Given the description of an element on the screen output the (x, y) to click on. 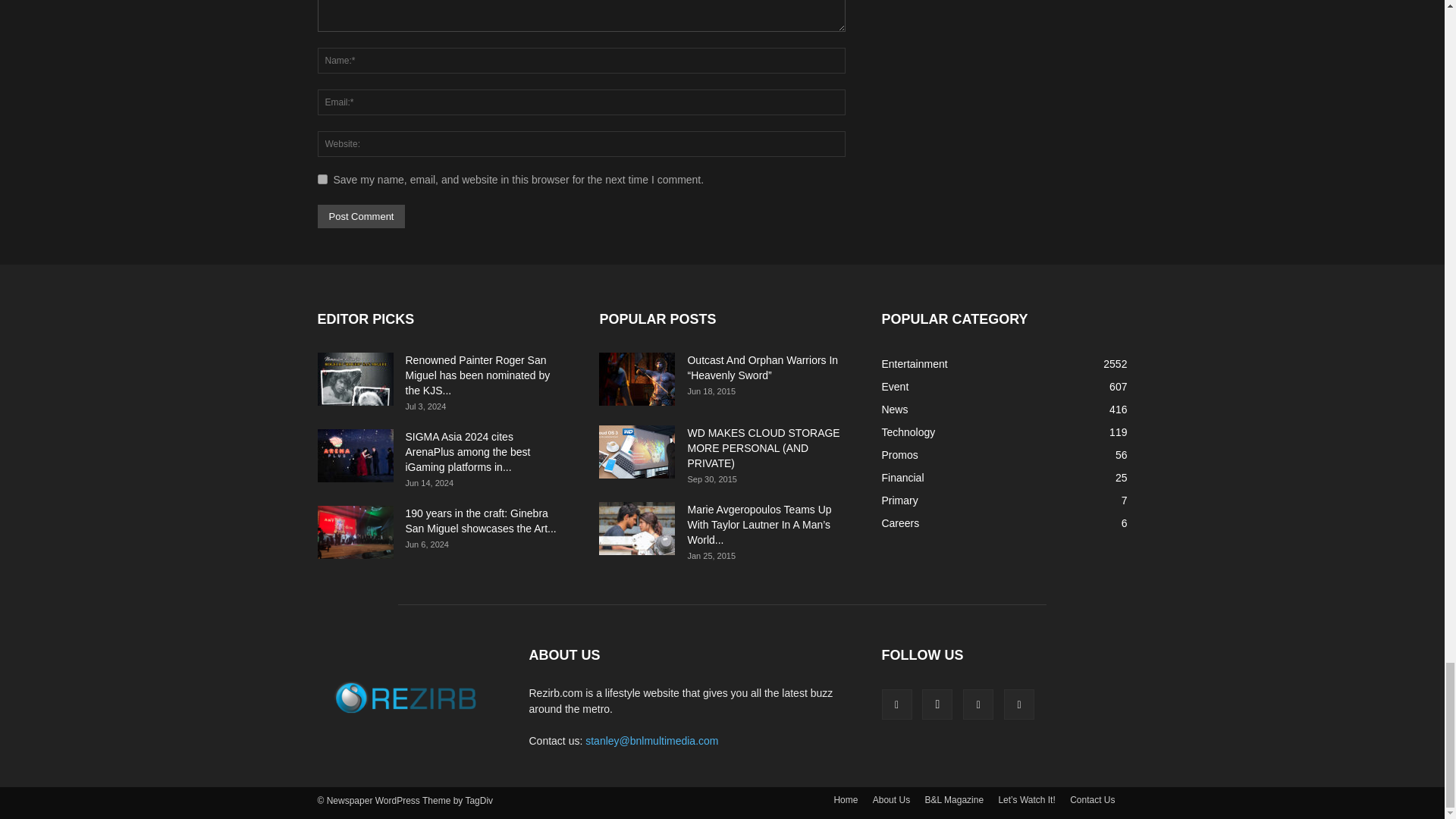
Post Comment (360, 216)
yes (321, 179)
